Given the description of an element on the screen output the (x, y) to click on. 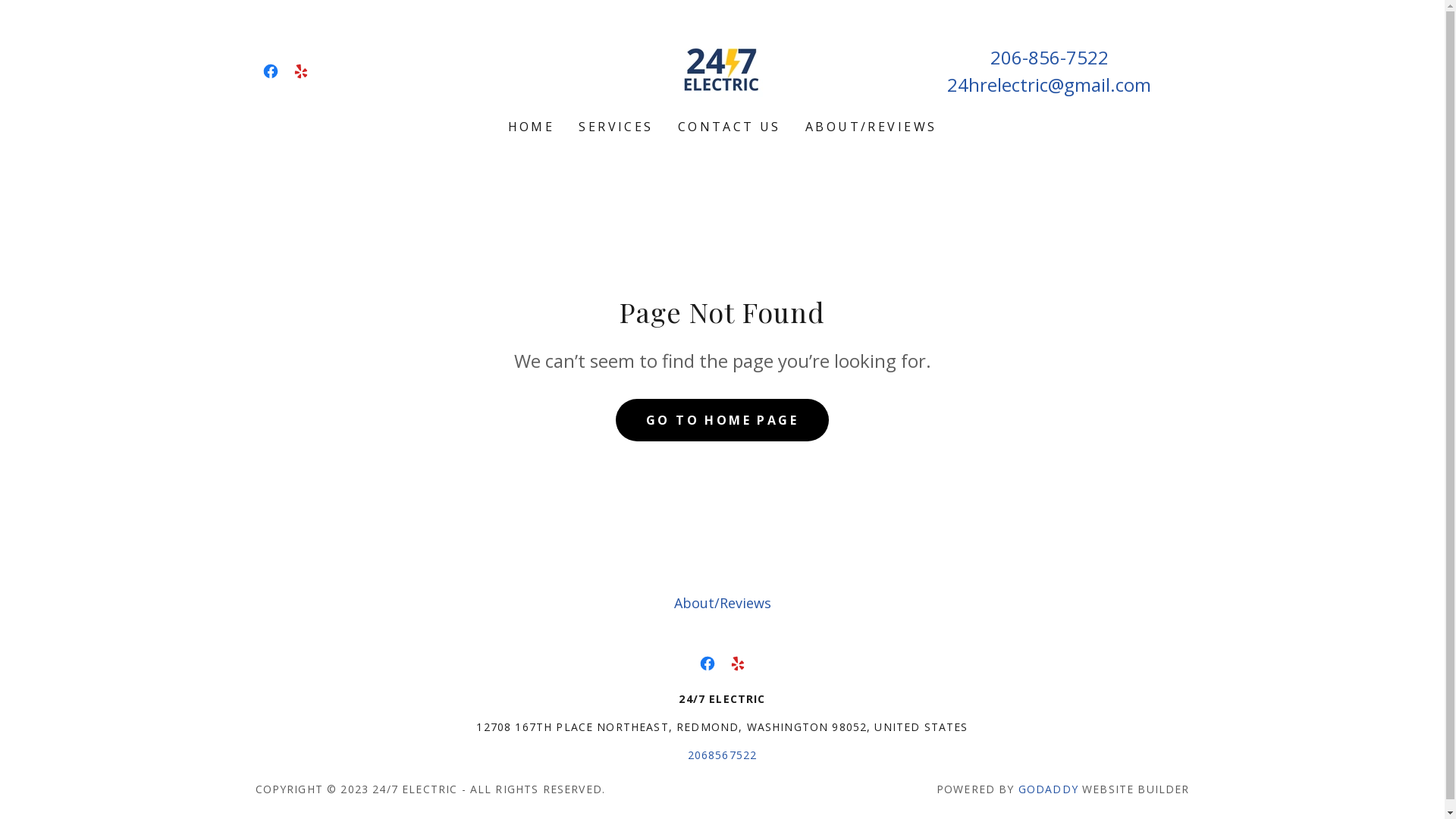
GODADDY Element type: text (1048, 788)
CONTACT US Element type: text (729, 126)
About/Reviews Element type: text (721, 602)
206-856-7522 Element type: text (1049, 56)
24/7 Electric Element type: hover (721, 68)
HOME Element type: text (531, 126)
2068567522 Element type: text (722, 754)
GO TO HOME PAGE Element type: text (721, 419)
SERVICES Element type: text (615, 126)
ABOUT/REVIEWS Element type: text (870, 126)
24hrelectric@gmail.com Element type: text (1049, 83)
